Given the description of an element on the screen output the (x, y) to click on. 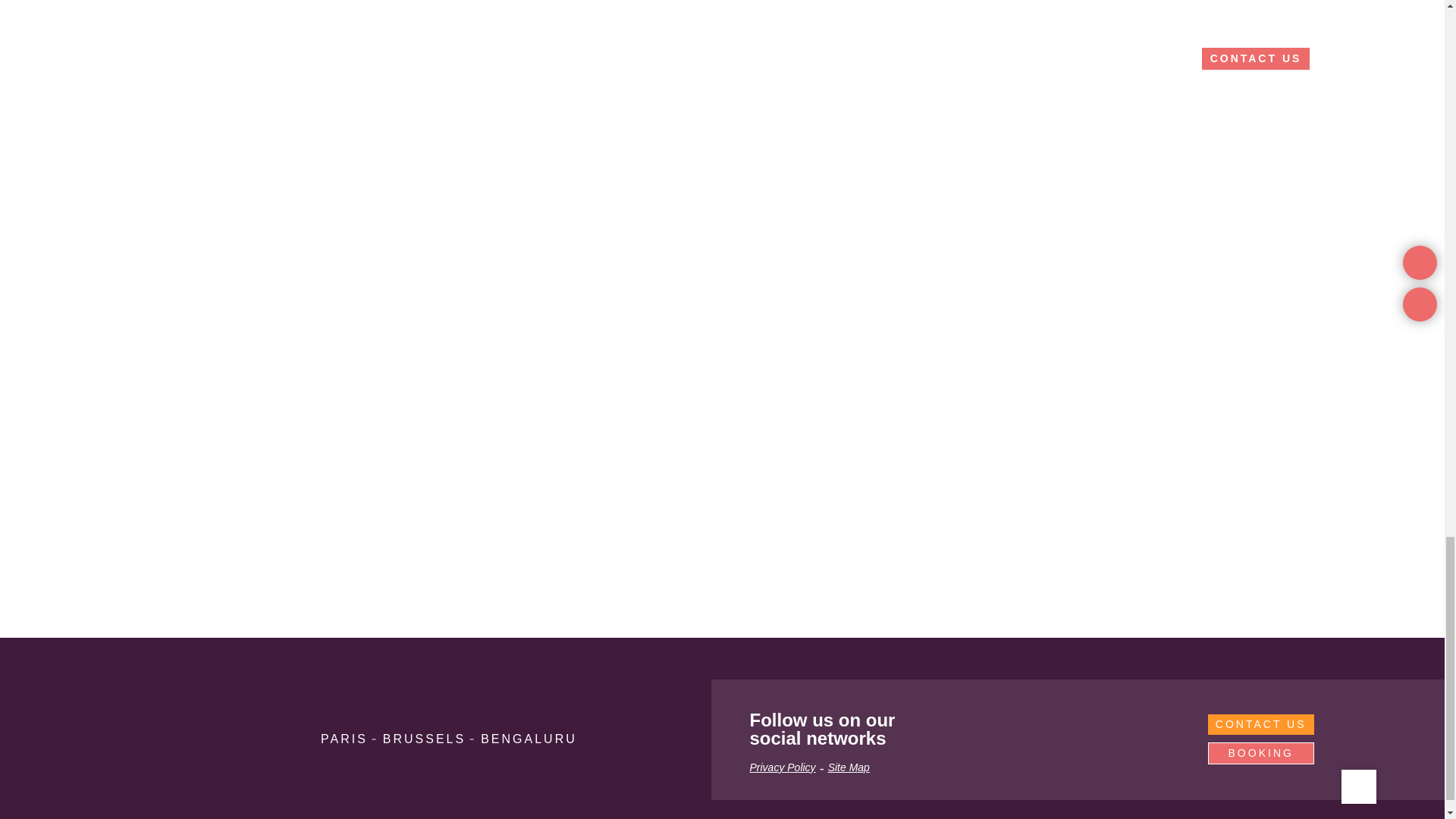
Instagram (1010, 729)
Youtube (1130, 729)
Facebook (1070, 729)
Linkedin (951, 729)
Privacy Policy (782, 767)
CONTACT US (1261, 724)
Site Map (848, 767)
